Given the description of an element on the screen output the (x, y) to click on. 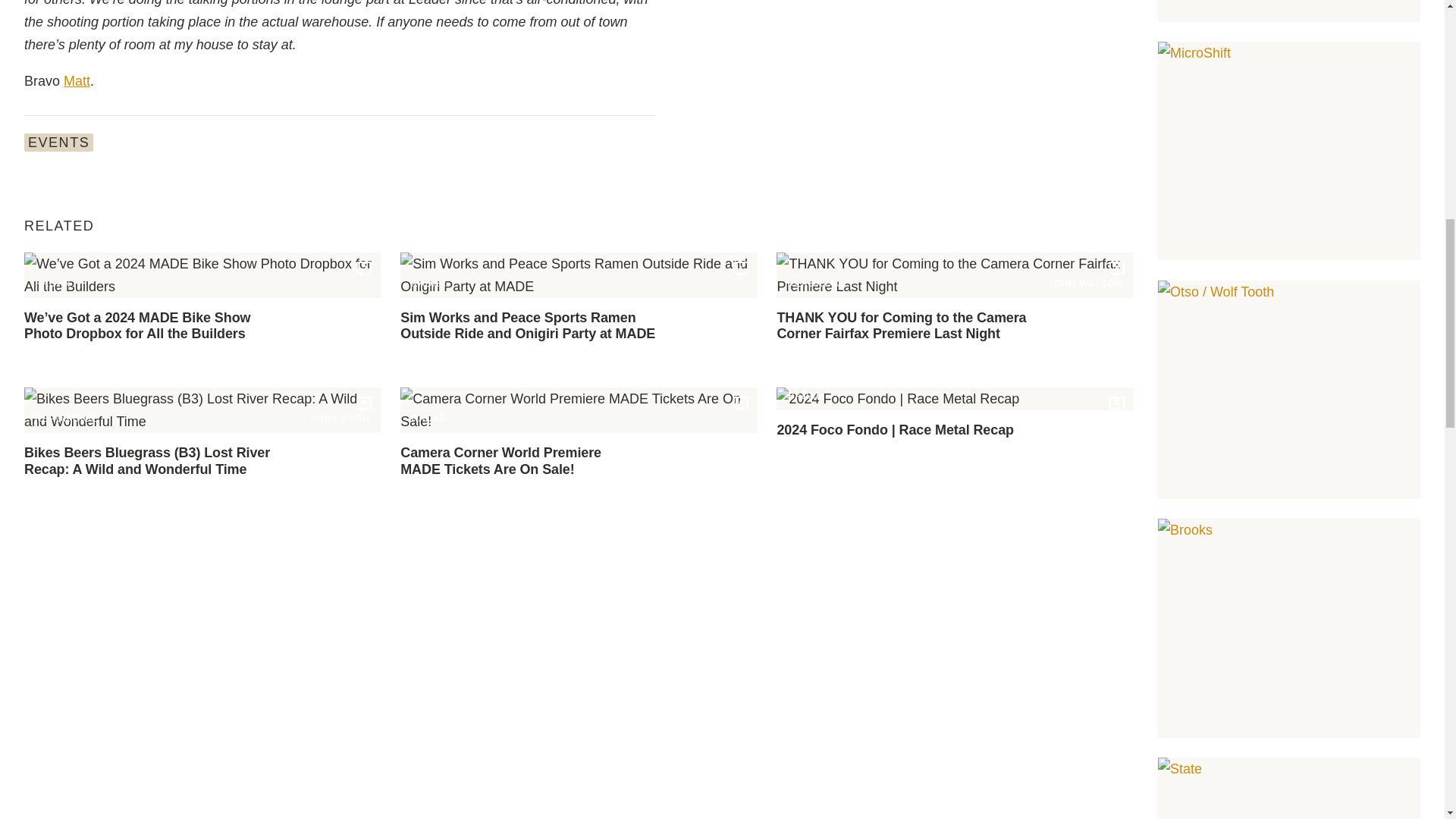
Paul Components (1289, 10)
State (1289, 788)
MicroShift (1289, 150)
Brooks (1289, 627)
